Given the description of an element on the screen output the (x, y) to click on. 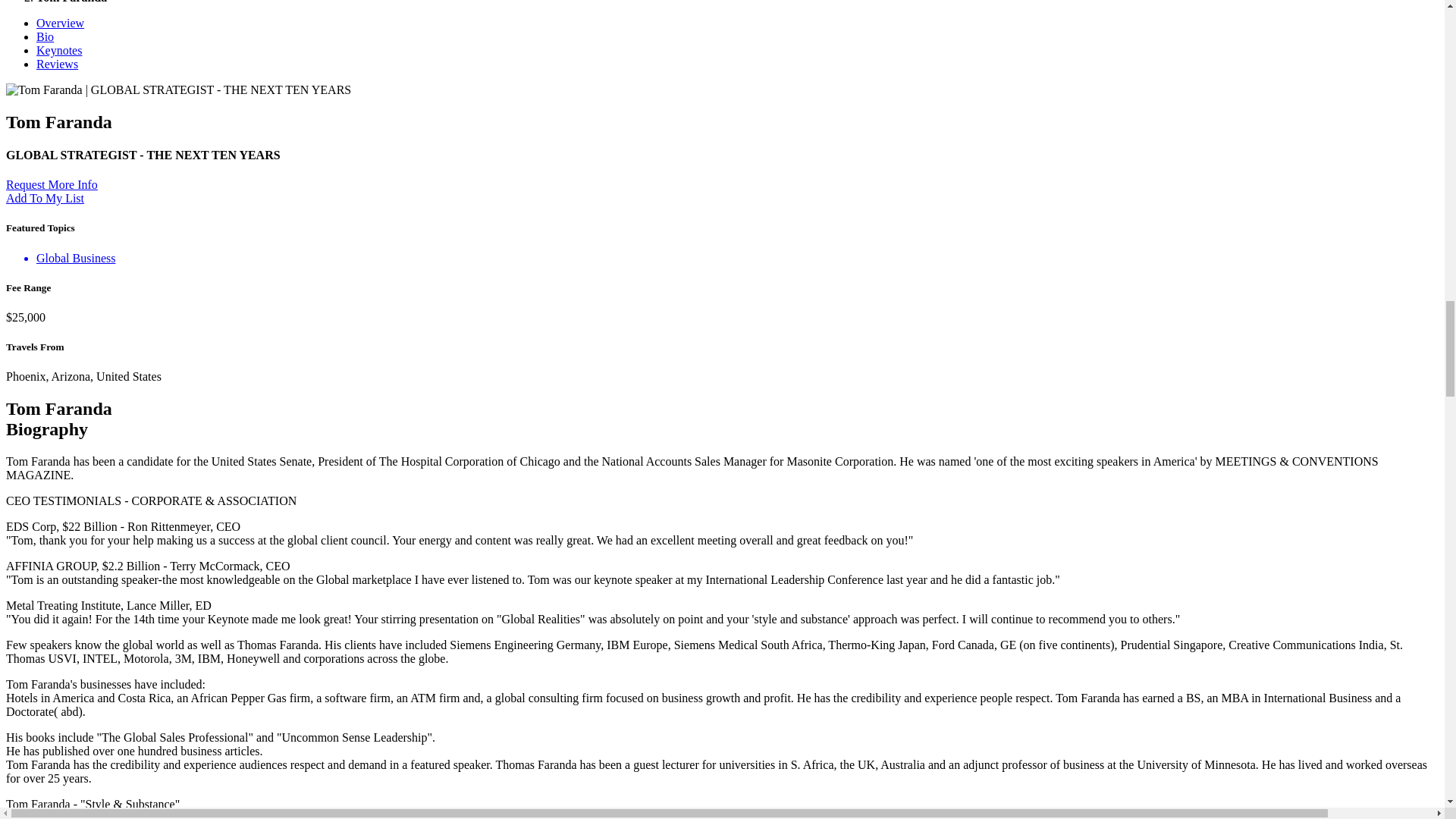
Request More Info (51, 184)
Add To My List (44, 197)
